Given the description of an element on the screen output the (x, y) to click on. 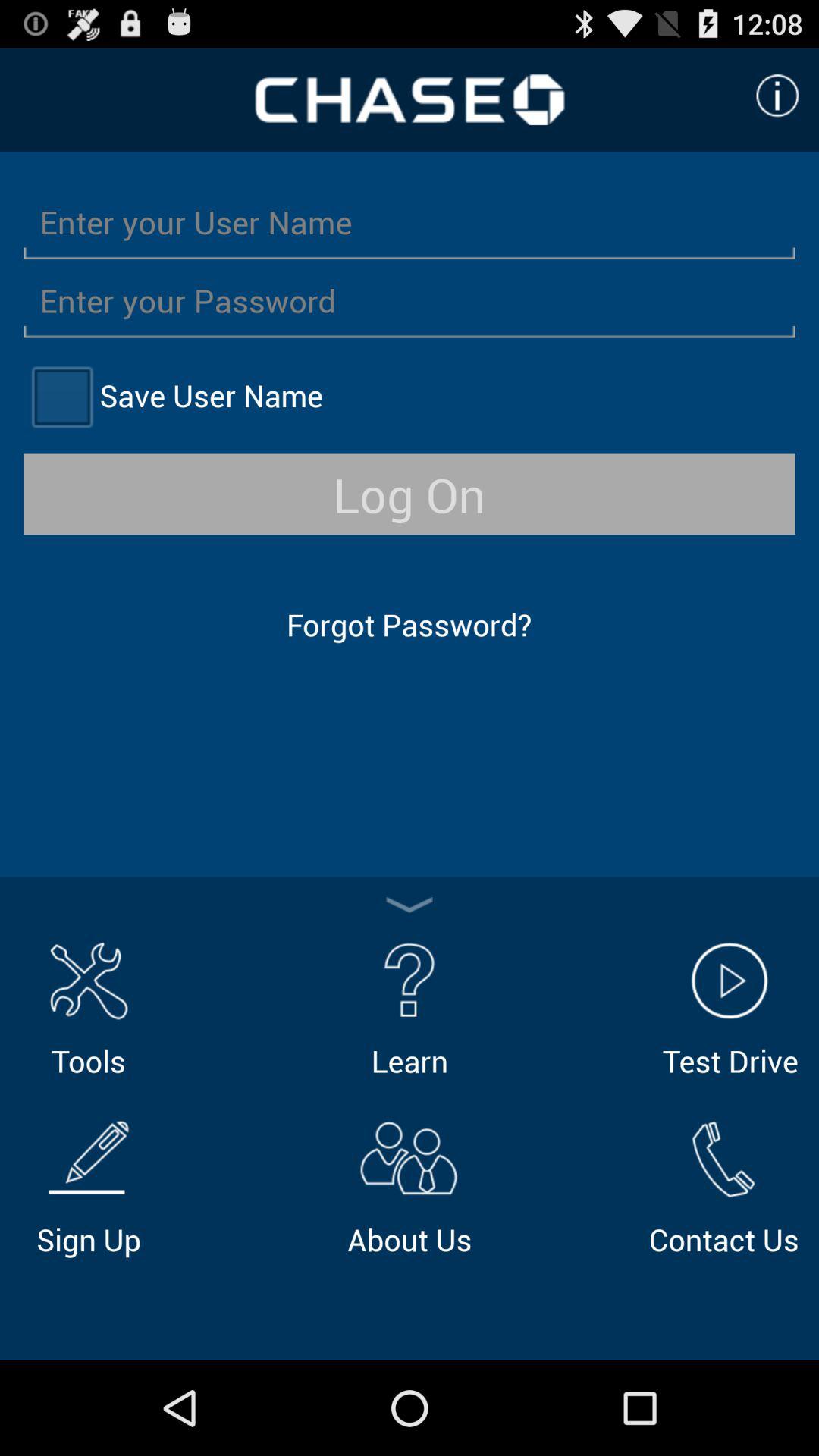
select save name (61, 395)
